Given the description of an element on the screen output the (x, y) to click on. 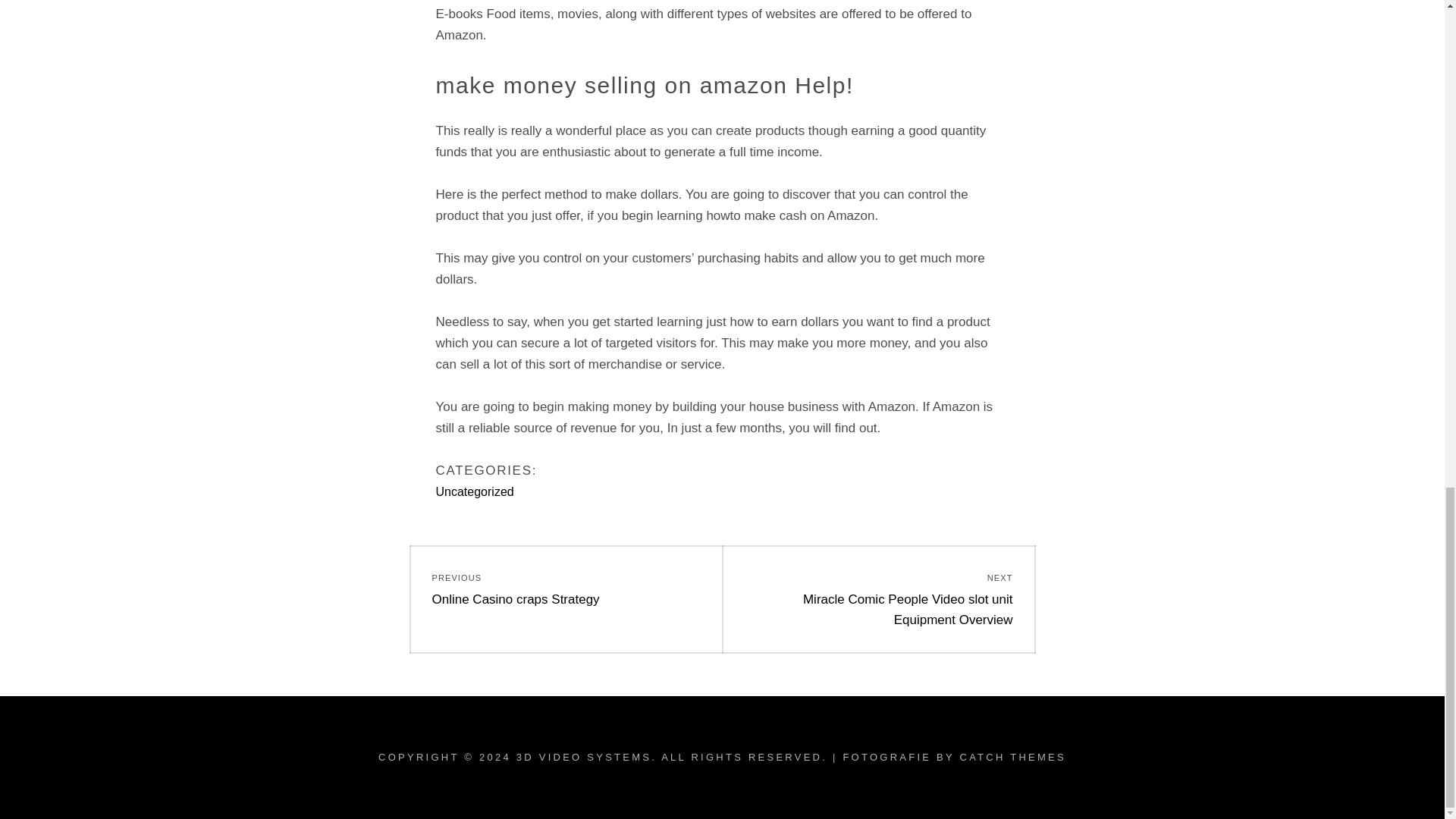
CATCH THEMES (1012, 756)
Uncategorized (566, 589)
3D VIDEO SYSTEMS (474, 491)
